Given the description of an element on the screen output the (x, y) to click on. 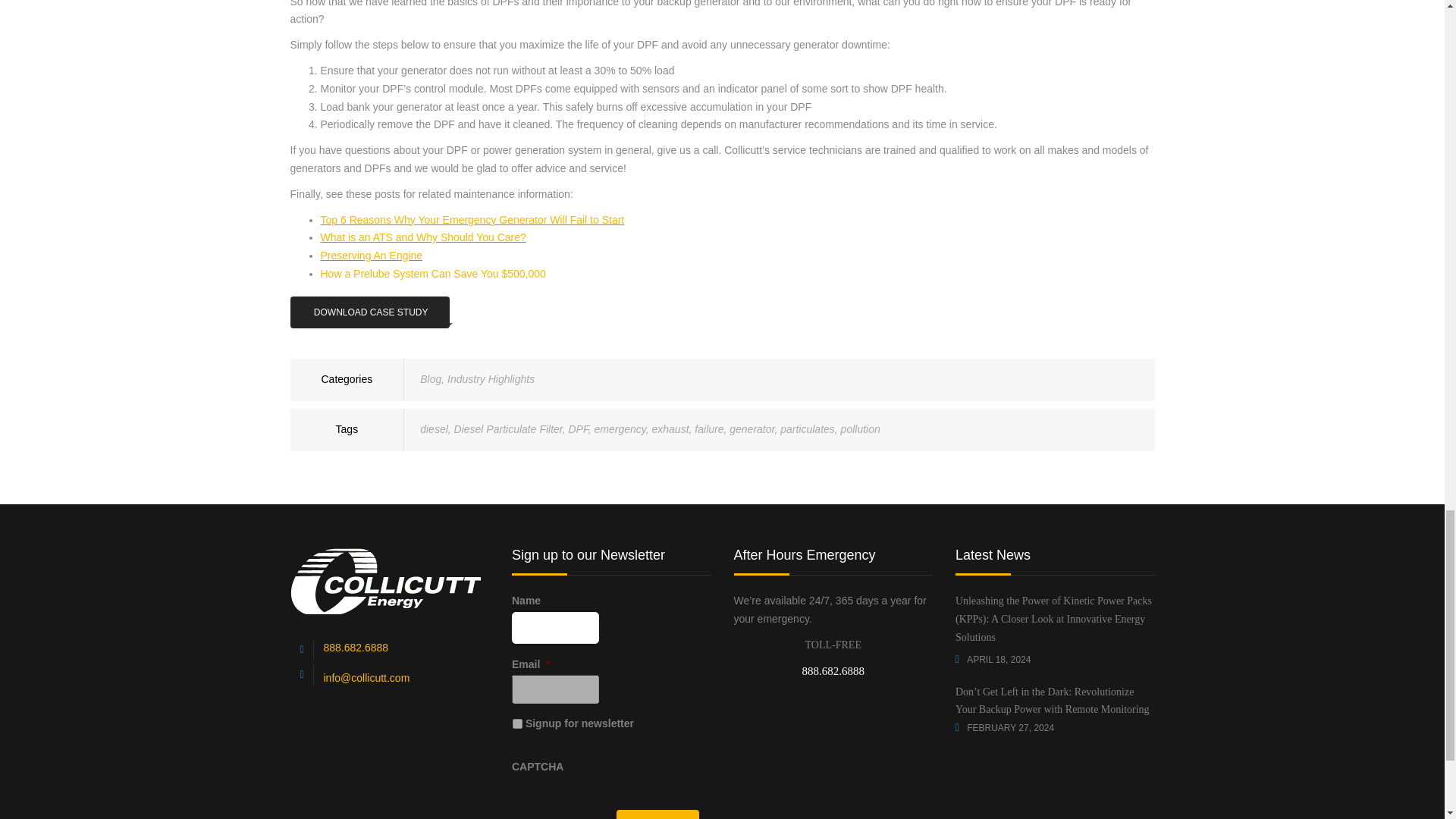
Blog (430, 378)
diesel (434, 428)
Submit (656, 814)
DOWNLOAD CASE STUDY (368, 312)
DPF (578, 428)
exhaust (670, 428)
Preserving An Engine (371, 255)
generator (751, 428)
particulates (807, 428)
